Given the description of an element on the screen output the (x, y) to click on. 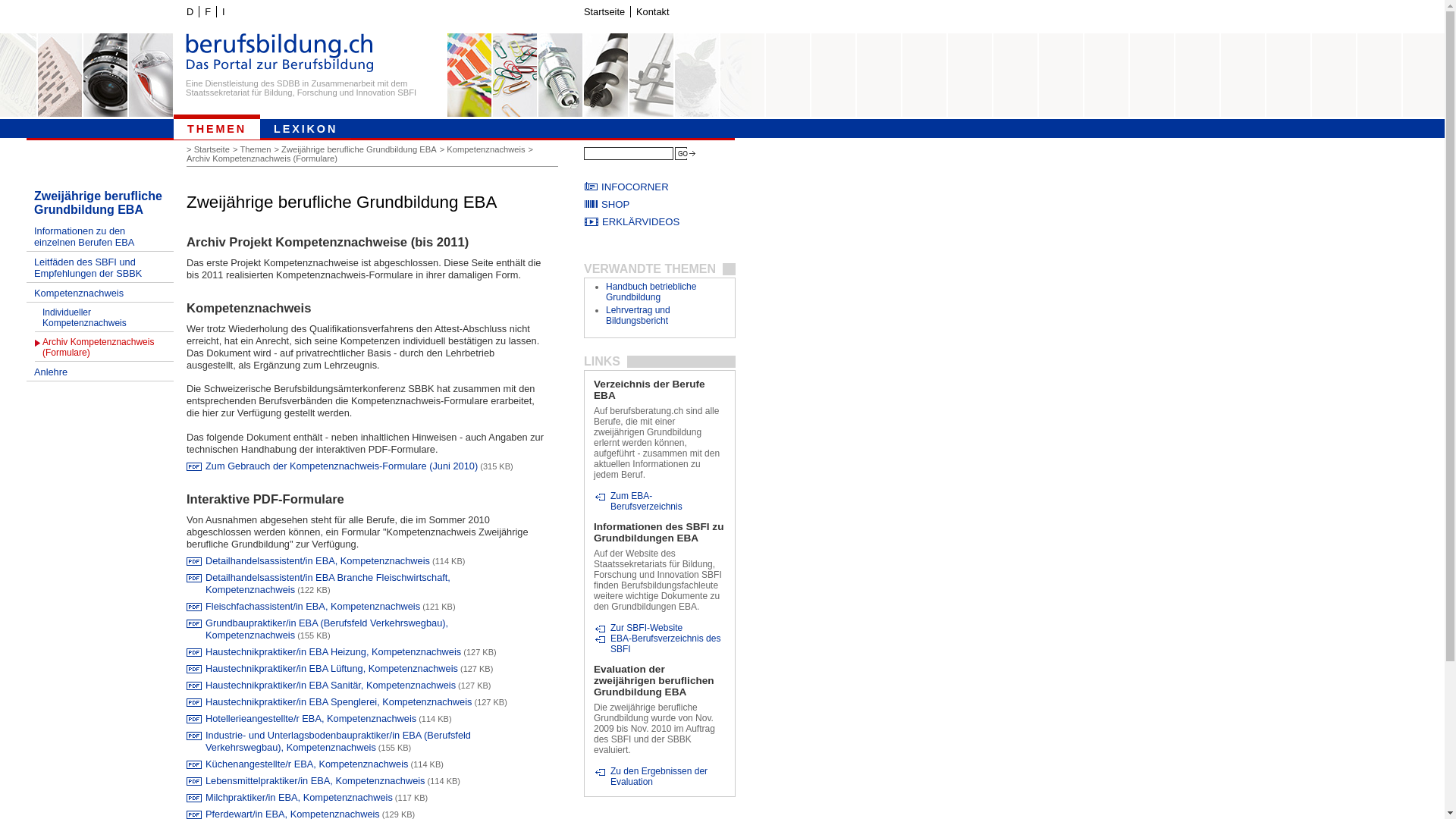
Startseite Element type: text (603, 11)
Kompetenznachweis Element type: text (99, 292)
EBA-Berufsverzeichnis des SBFI Element type: text (658, 643)
Zur SBFI-Website Element type: text (637, 627)
Hotellerieangestellte/r EBA, Kompetenznachweis (114 KB) Element type: text (318, 718)
Milchpraktiker/in EBA, Kompetenznachweis (117 KB) Element type: text (306, 797)
LEXIKON Element type: text (305, 126)
Anlehre Element type: text (99, 371)
SHOP Element type: text (659, 204)
Informationen zu den einzelnen Berufen EBA Element type: text (99, 235)
Themen Element type: text (256, 148)
Kontakt Element type: text (652, 11)
Lebensmittelpraktiker/in EBA, Kompetenznachweis (114 KB) Element type: text (323, 781)
Fleischfachassistent/in EBA, Kompetenznachweis (121 KB) Element type: text (320, 606)
Zum EBA-Berufsverzeichnis Element type: text (658, 500)
Lehrvertrag und Bildungsbericht Element type: text (637, 315)
D Element type: text (189, 11)
Detailhandelsassistent/in EBA, Kompetenznachweis (114 KB) Element type: text (325, 561)
Zu den Ergebnissen der Evaluation Element type: text (658, 776)
I Element type: text (223, 11)
Handbuch betriebliche Grundbildung Element type: text (650, 291)
THEMEN Element type: text (216, 126)
Startseite Element type: text (213, 148)
Archiv Kompetenznachweis (Formulare) Element type: text (263, 158)
INFOCORNER Element type: text (659, 186)
Kompetenznachweis Element type: text (486, 148)
F Element type: text (207, 11)
Archiv Kompetenznachweis (Formulare) Element type: text (103, 346)
Individueller Kompetenznachweis Element type: text (103, 317)
